Given the description of an element on the screen output the (x, y) to click on. 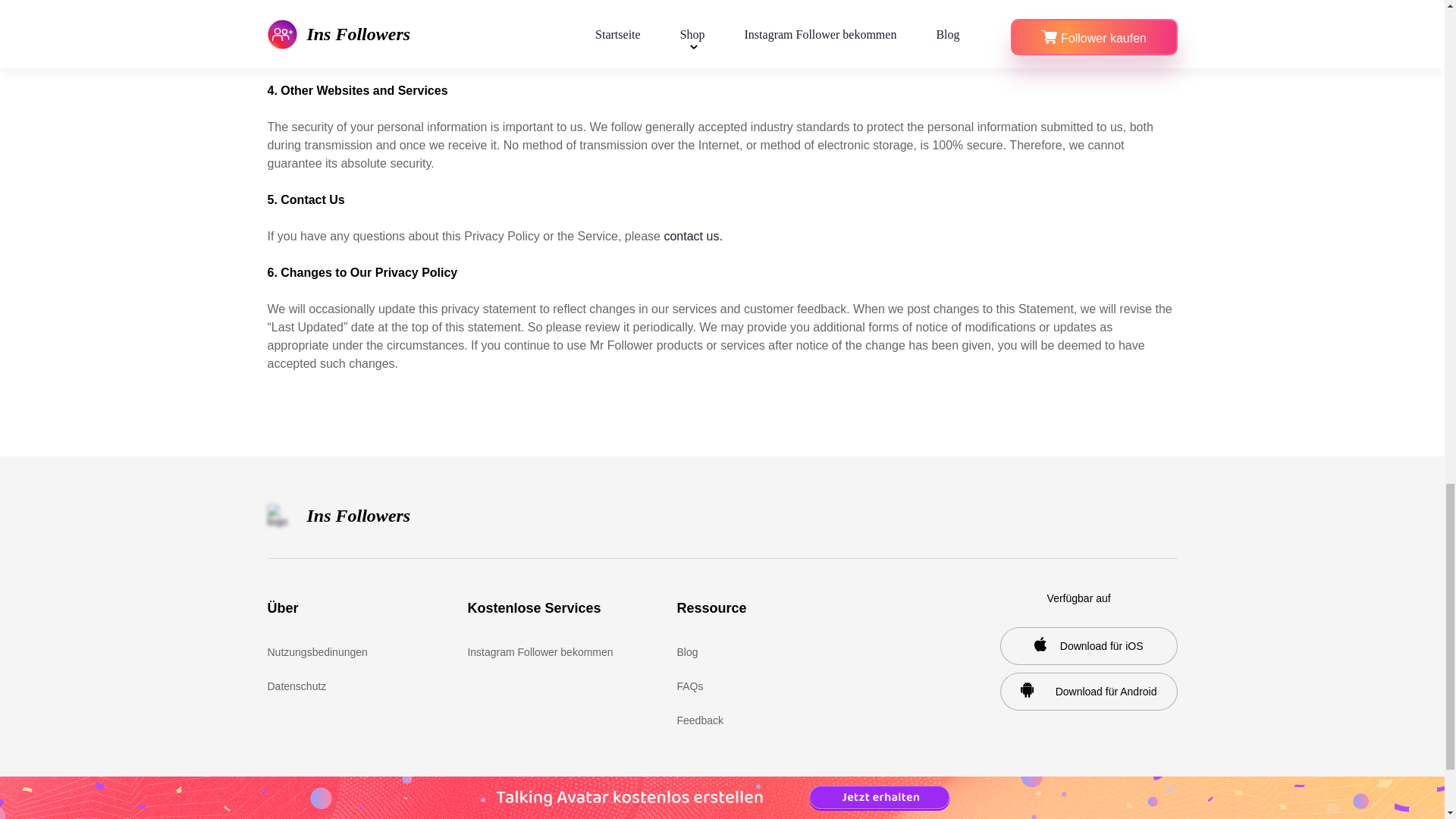
FAQs (744, 685)
Ins Followers (338, 515)
Feedback (744, 720)
Blog (744, 652)
contact us. (692, 236)
Datenschutz (334, 685)
Instagram Follower bekommen (539, 652)
Nutzungsbedinungen (334, 652)
